Given the description of an element on the screen output the (x, y) to click on. 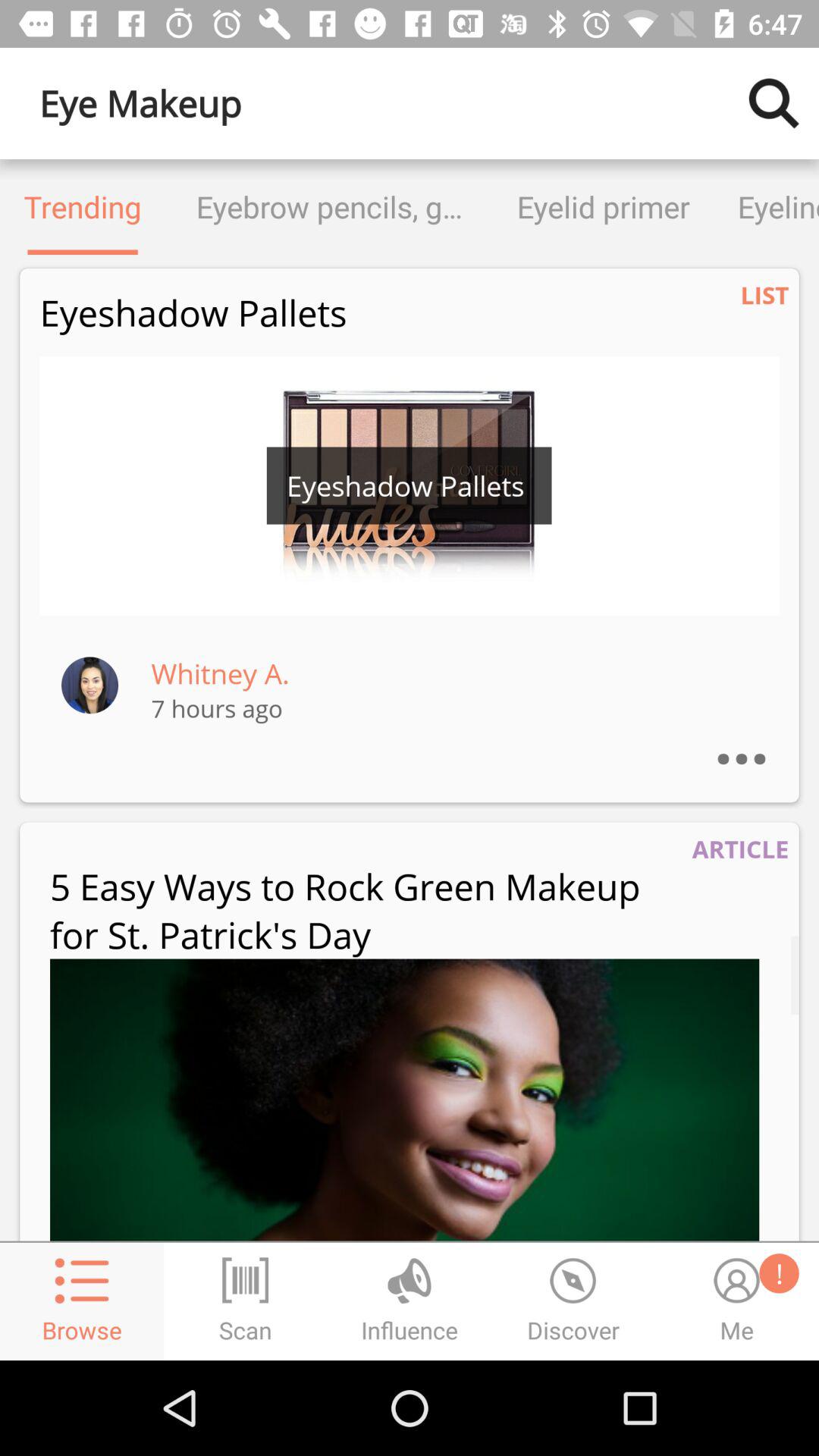
click the icon to the right of the eyelid primer (766, 206)
